Given the description of an element on the screen output the (x, y) to click on. 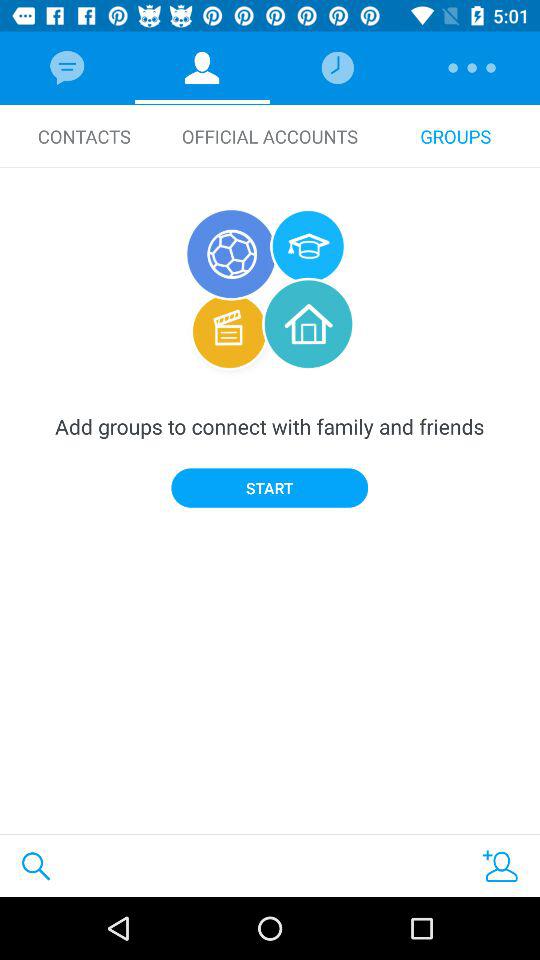
tap icon next to the official accounts icon (84, 136)
